Given the description of an element on the screen output the (x, y) to click on. 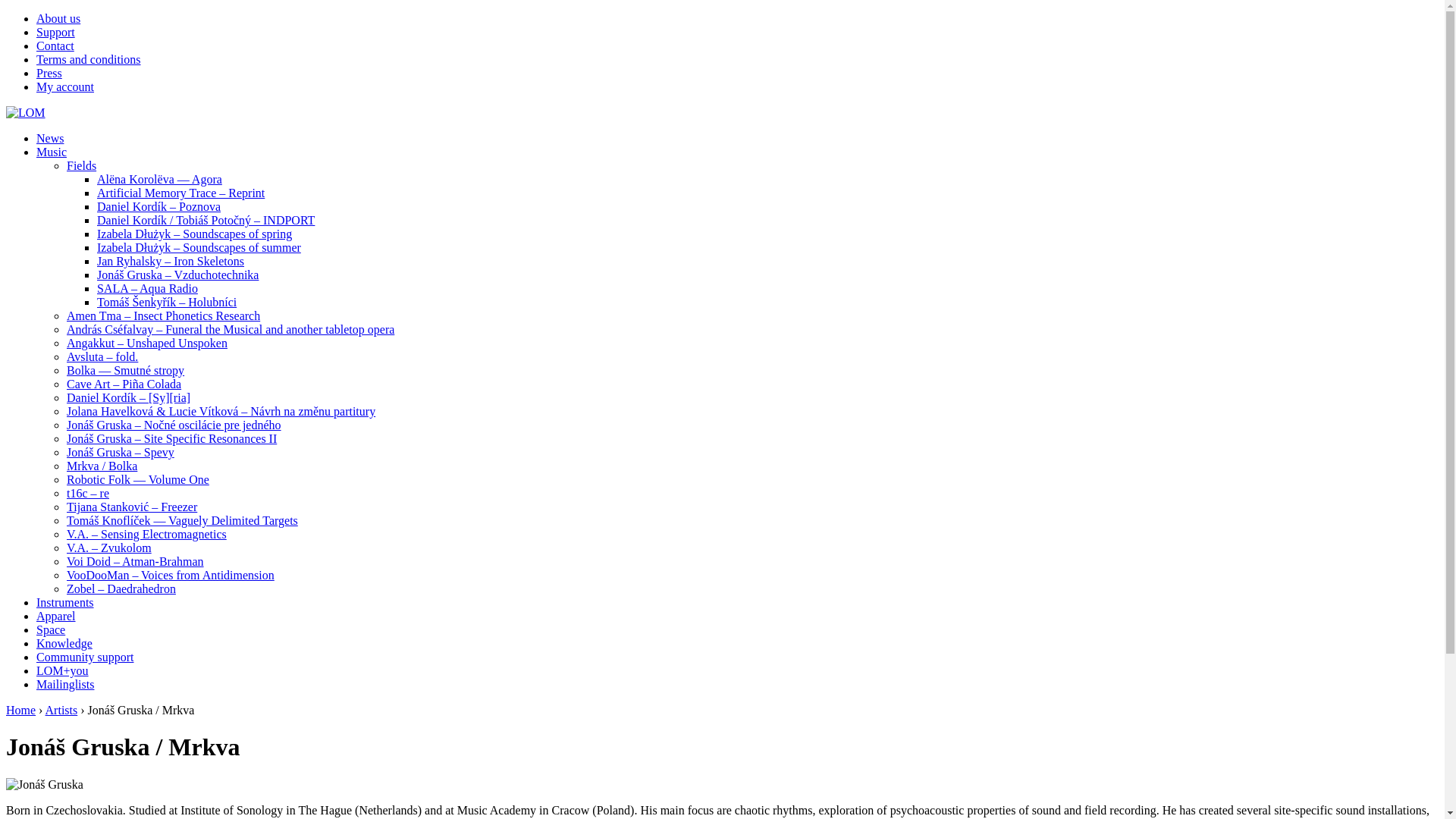
Press Element type: text (49, 72)
Artists Element type: text (61, 709)
Instruments Element type: text (65, 602)
My account Element type: text (65, 86)
Music Element type: text (51, 151)
Community support Element type: text (84, 656)
Knowledge Element type: text (64, 643)
Home Element type: text (20, 709)
Contact Element type: text (55, 45)
Support Element type: text (55, 31)
Fields Element type: text (81, 165)
News Element type: text (49, 137)
Terms and conditions Element type: text (88, 59)
Apparel Element type: text (55, 615)
LOM+you Element type: text (62, 670)
Space Element type: text (50, 629)
About us Element type: text (58, 18)
Mrkva / Bolka Element type: text (101, 465)
Mailinglists Element type: text (65, 683)
